Given the description of an element on the screen output the (x, y) to click on. 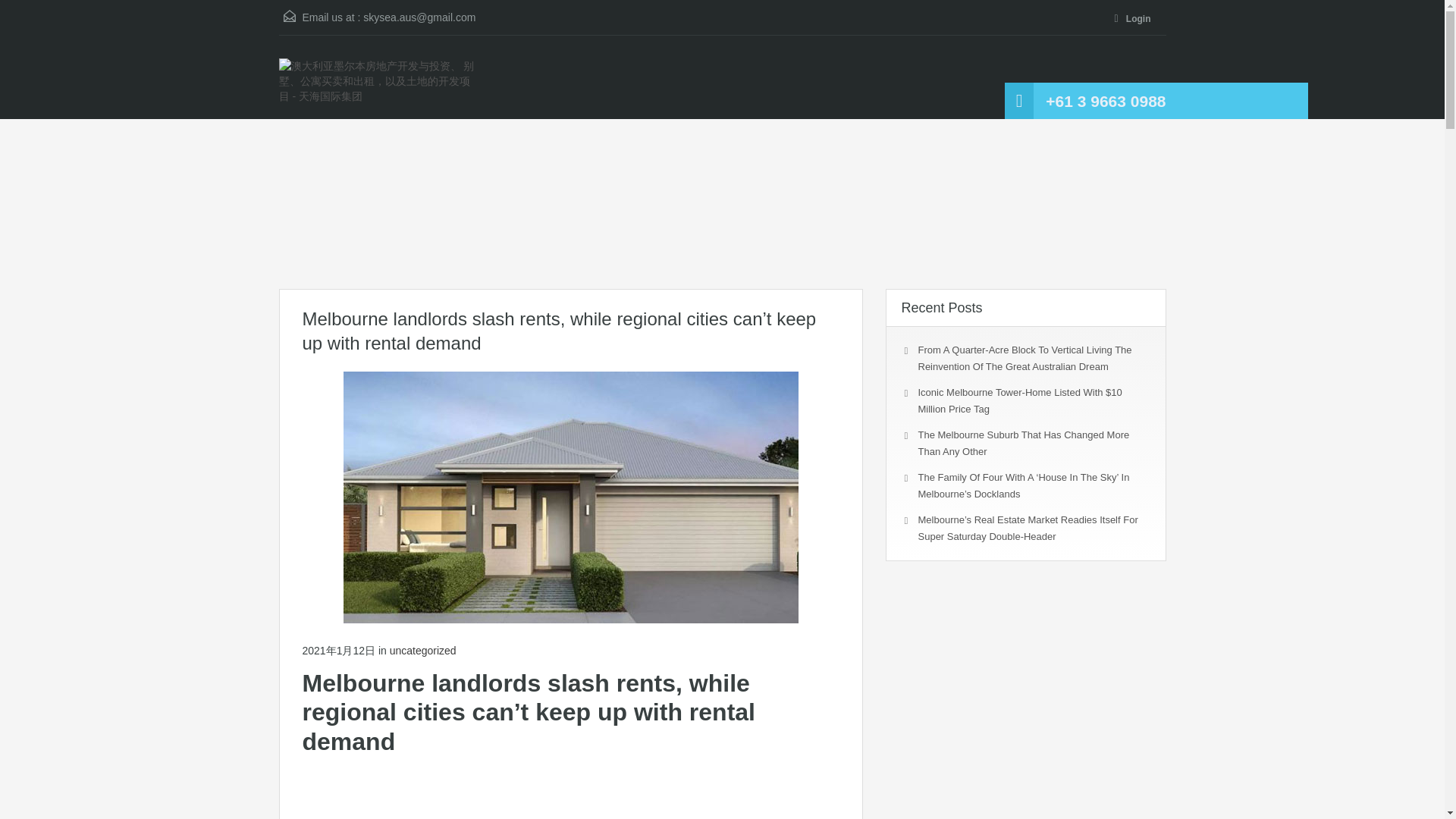
uncategorized (423, 650)
Make a Call (1105, 101)
Login (1135, 19)
The Melbourne Suburb That Has Changed More Than Any Other (1023, 443)
